Given the description of an element on the screen output the (x, y) to click on. 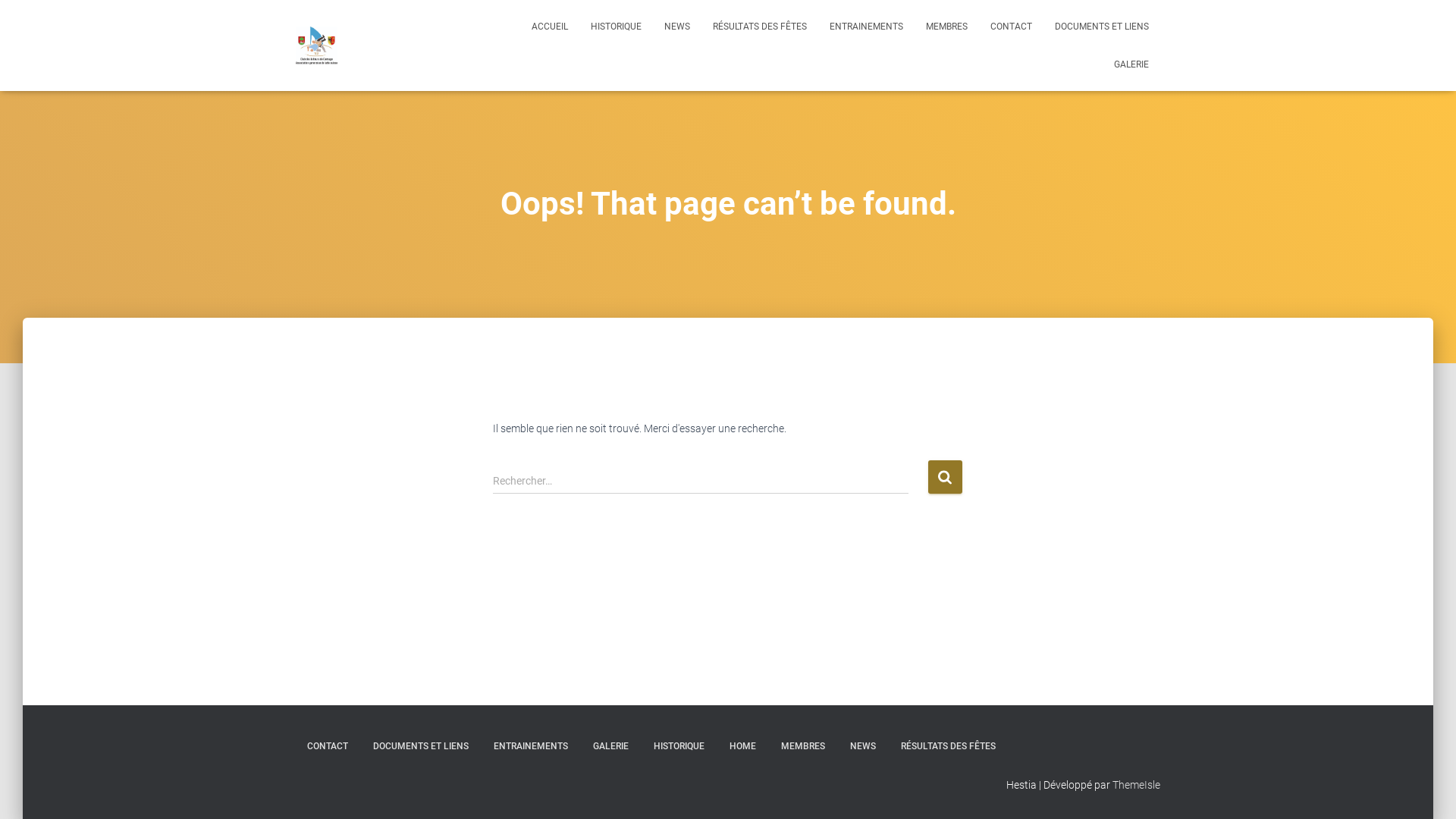
NEWS Element type: text (676, 26)
ACCUEIL Element type: text (549, 26)
CONTACT Element type: text (1011, 26)
ENTRAINEMENTS Element type: text (530, 746)
ThemeIsle Element type: text (1136, 784)
CONTACT Element type: text (327, 746)
HISTORIQUE Element type: text (678, 746)
DOCUMENTS ET LIENS Element type: text (420, 746)
MEMBRES Element type: text (802, 746)
HOME Element type: text (742, 746)
GALERIE Element type: text (610, 746)
acgls Element type: hover (316, 45)
Rechercher Element type: text (945, 476)
NEWS Element type: text (862, 746)
GALERIE Element type: text (1131, 64)
MEMBRES Element type: text (946, 26)
ENTRAINEMENTS Element type: text (866, 26)
DOCUMENTS ET LIENS Element type: text (1101, 26)
HISTORIQUE Element type: text (615, 26)
